Given the description of an element on the screen output the (x, y) to click on. 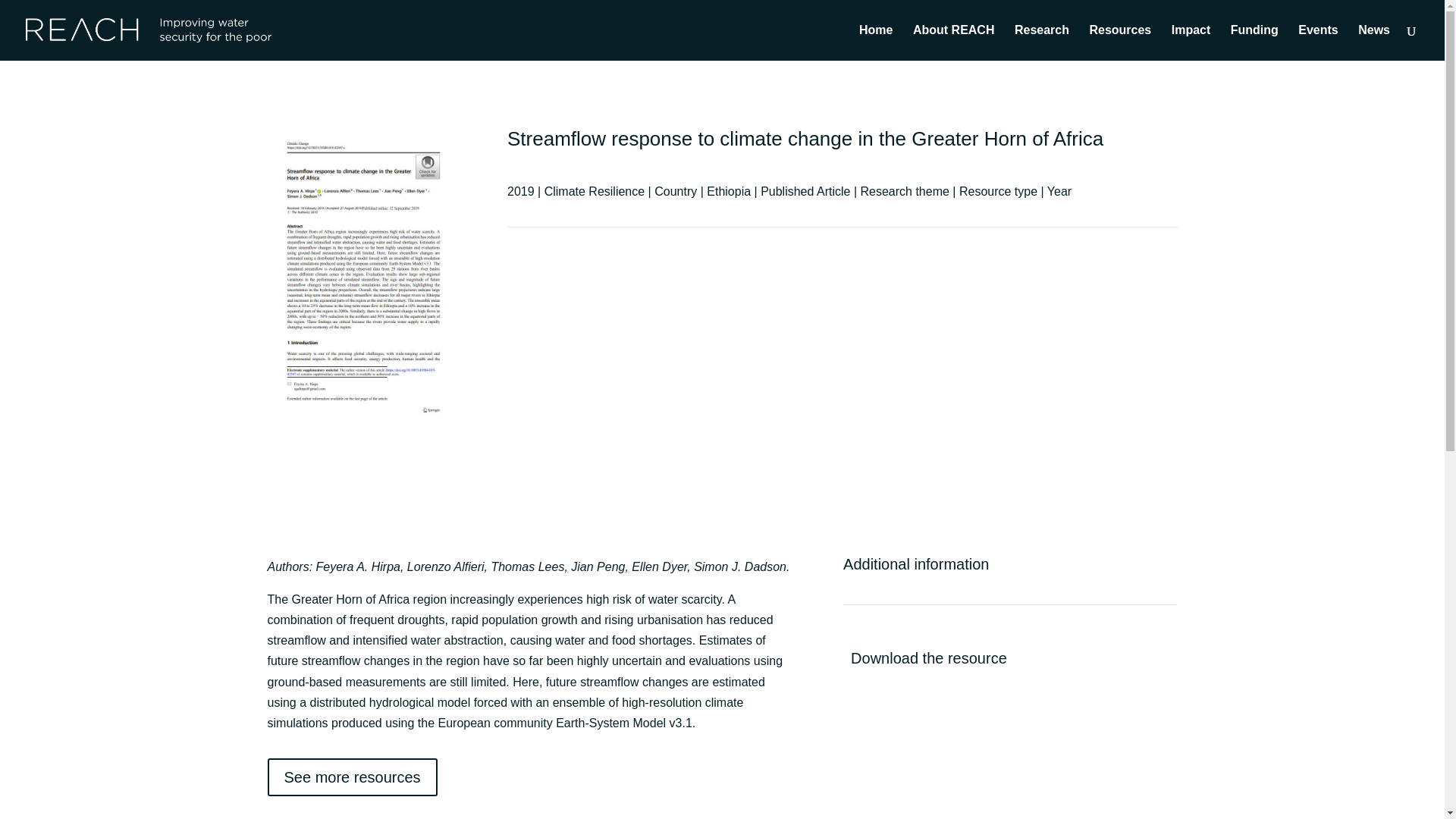
Country (675, 191)
News (1374, 42)
Research (1041, 42)
Research theme (904, 191)
Year (1058, 191)
Funding (1254, 42)
Resource type (997, 191)
See more resources (351, 777)
Resources (1120, 42)
Published Article (805, 191)
